Given the description of an element on the screen output the (x, y) to click on. 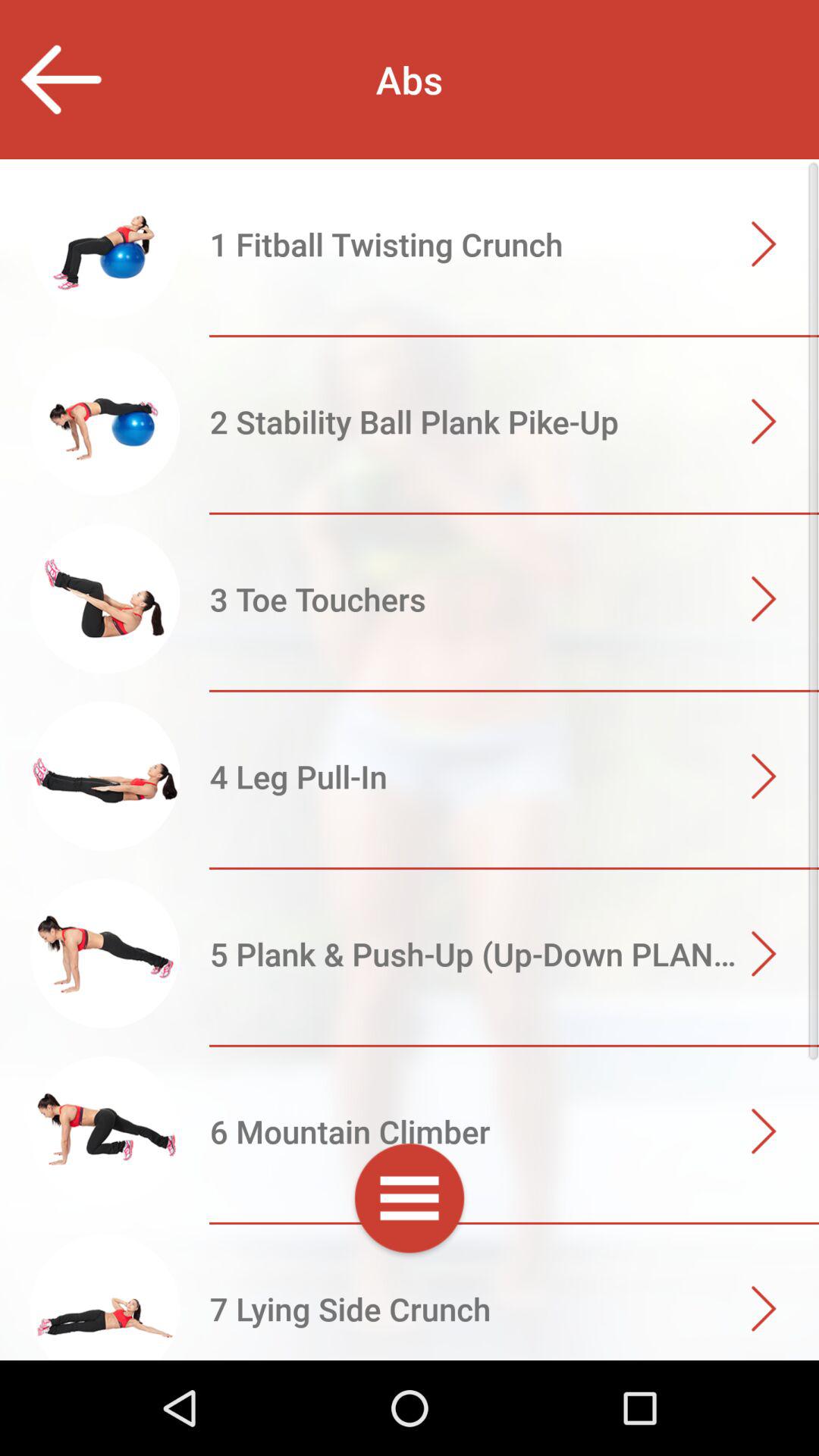
go next page (409, 1310)
